Given the description of an element on the screen output the (x, y) to click on. 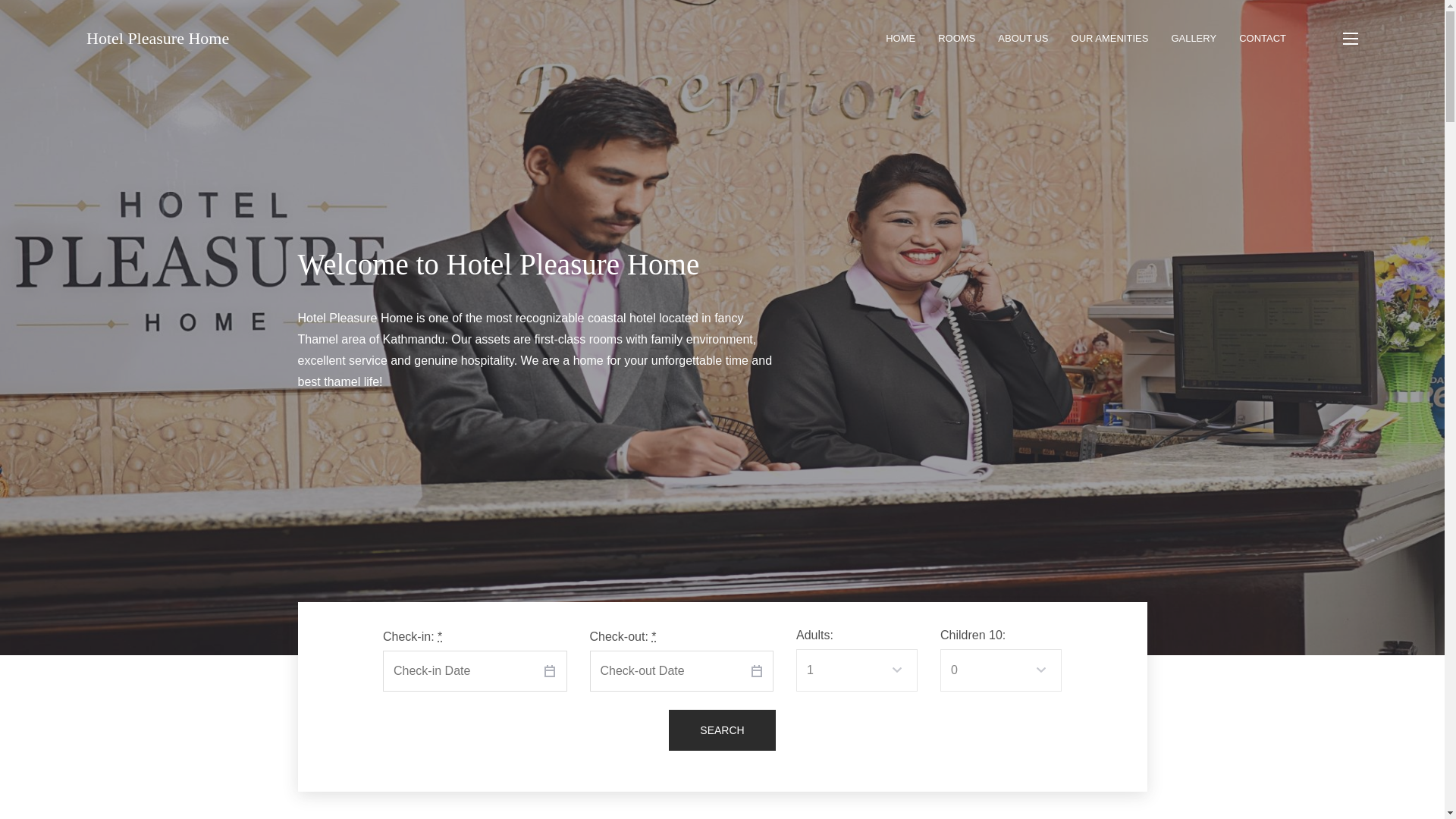
ABOUT US (1022, 38)
Search (721, 730)
CONTACT (1262, 38)
OUR AMENITIES (1109, 38)
Hotel Pleasure Home (156, 37)
GALLERY (1192, 38)
ROOMS (956, 38)
